Given the description of an element on the screen output the (x, y) to click on. 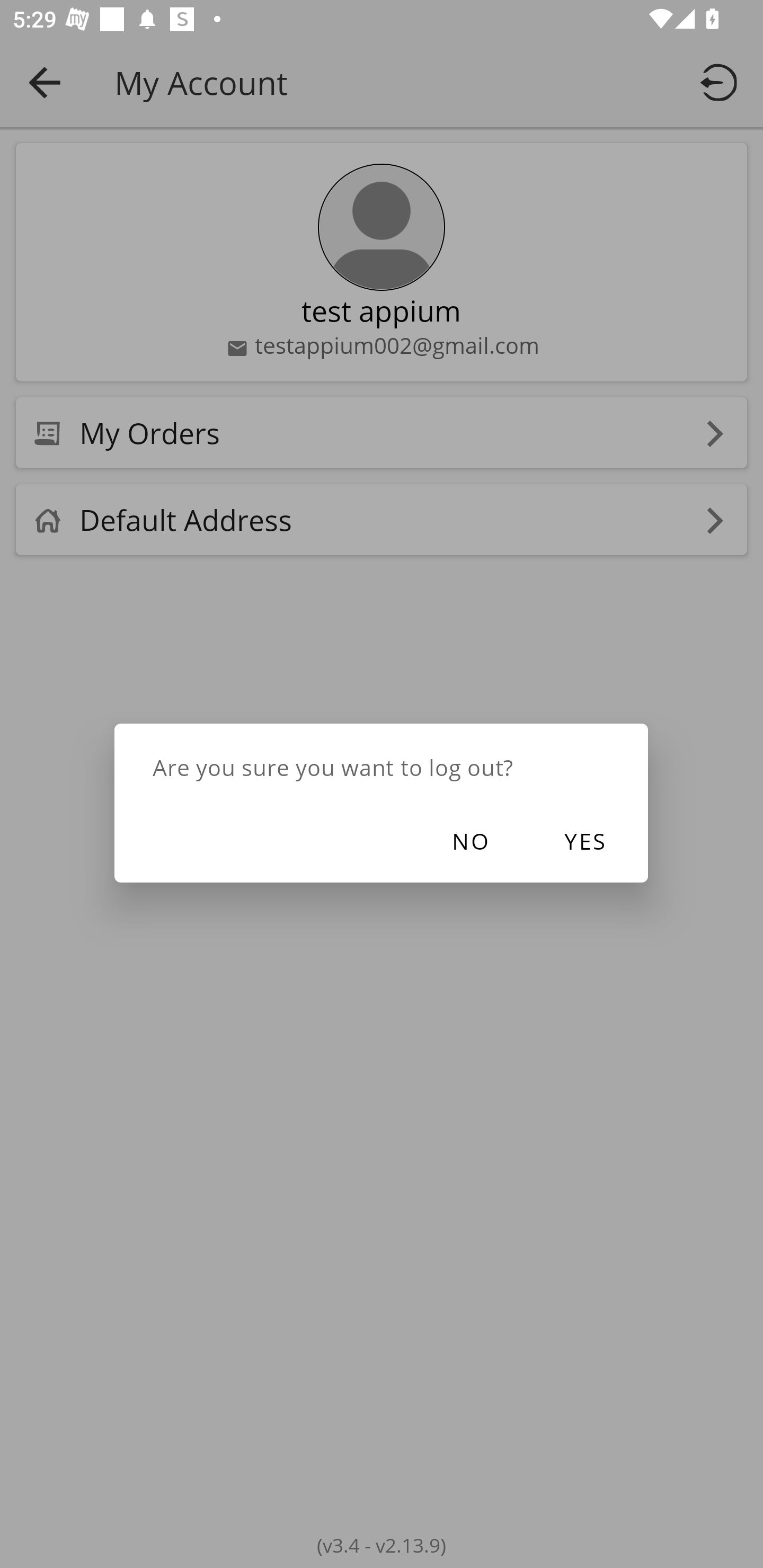
NO (469, 840)
YES (584, 840)
